Given the description of an element on the screen output the (x, y) to click on. 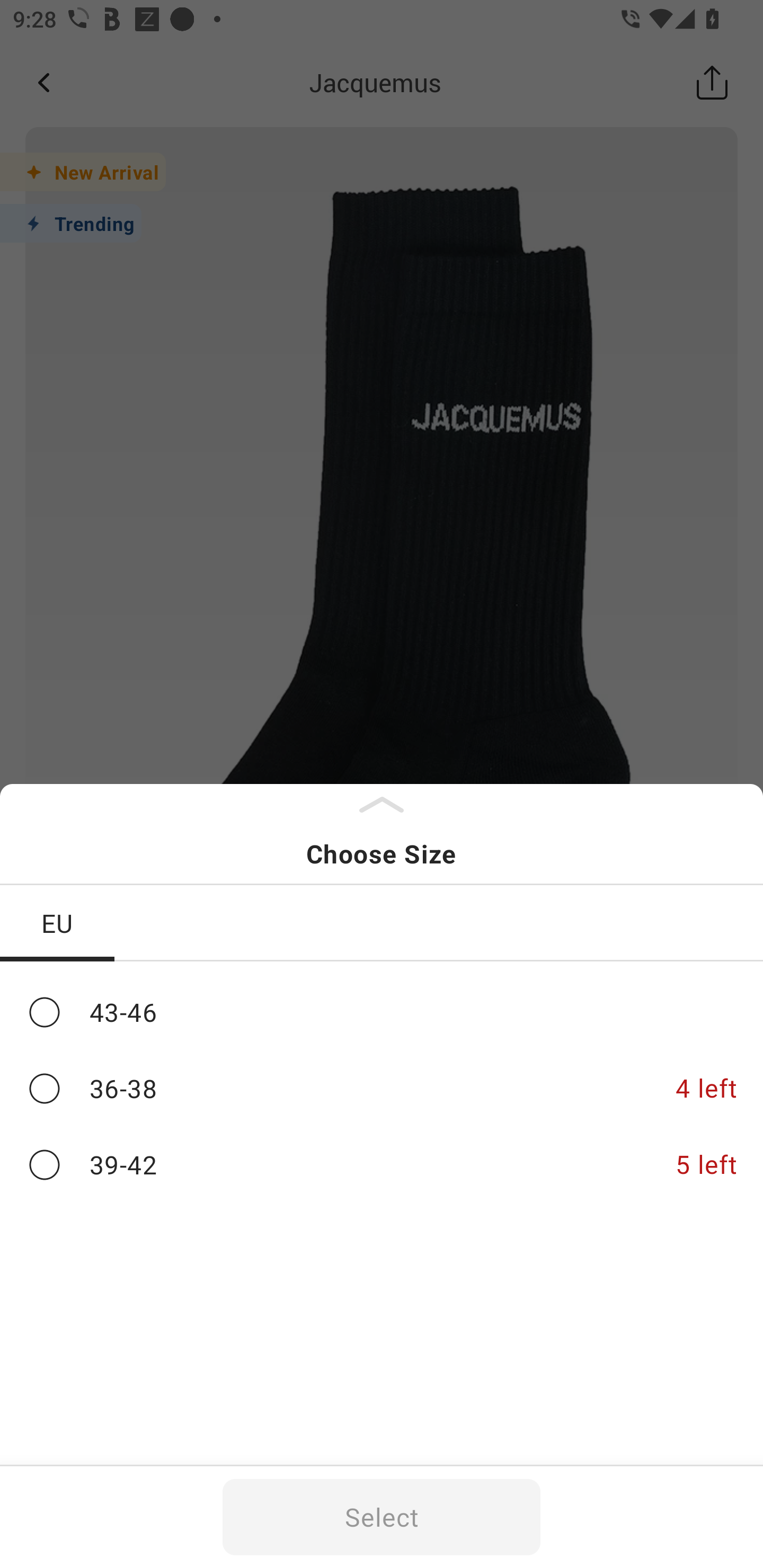
43-46 (381, 1011)
36-38 4 left (381, 1088)
39-42 5 left (381, 1164)
Select (381, 1516)
